Given the description of an element on the screen output the (x, y) to click on. 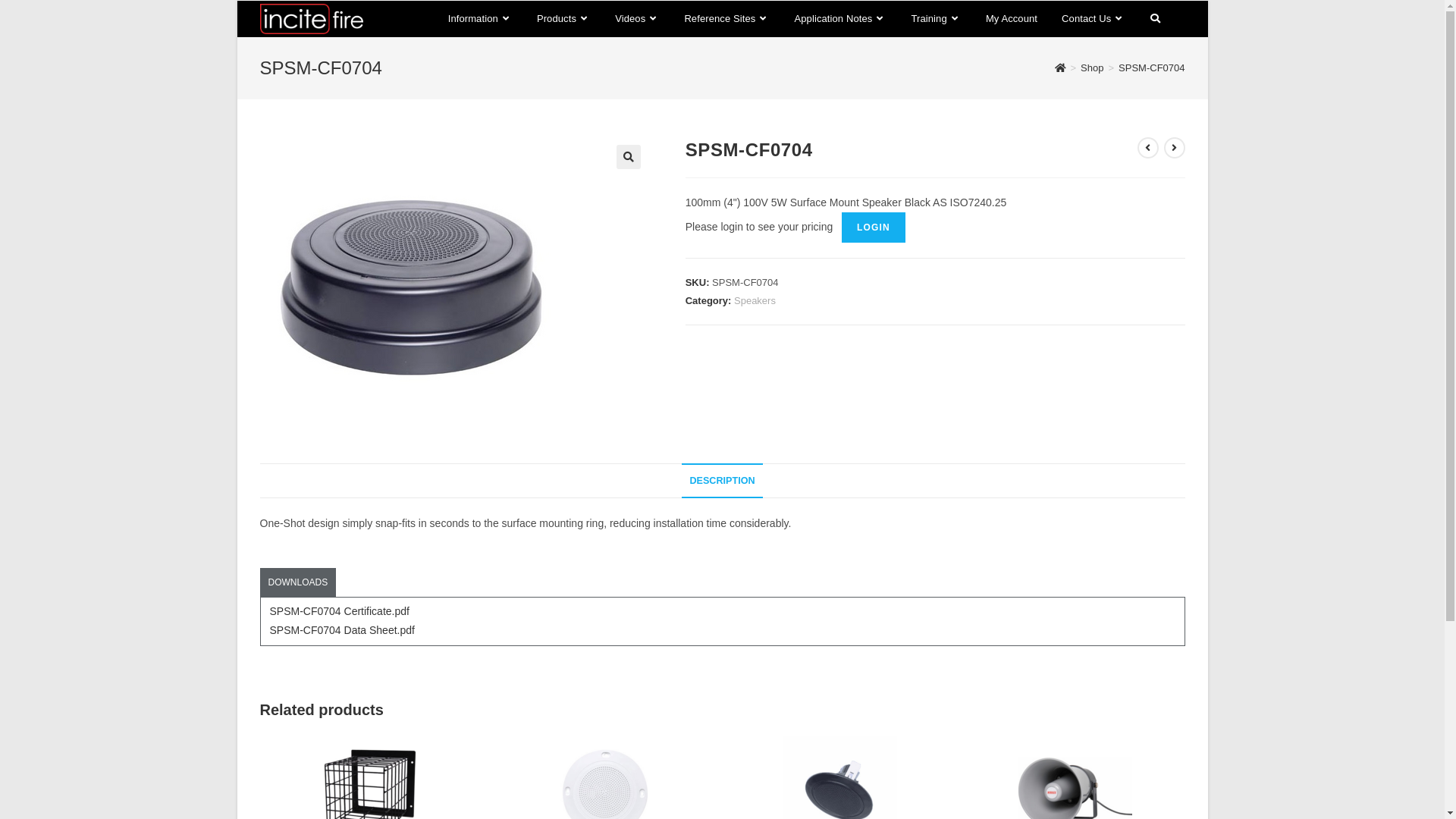
Training Element type: text (935, 18)
Reference Sites Element type: text (726, 18)
SPSM-CF0704 Element type: hover (410, 288)
Products Element type: text (563, 18)
Toggle website search Element type: text (1154, 18)
SPSM-CF0704 Certificate.pdf Element type: text (339, 611)
DESCRIPTION Element type: text (721, 480)
Application Notes Element type: text (839, 18)
Shop Element type: text (1091, 67)
Information Element type: text (480, 18)
Videos Element type: text (636, 18)
LOGIN Element type: text (873, 227)
SPSM-CF0704 Data Sheet.pdf Element type: text (341, 630)
Speakers Element type: text (754, 300)
LOGIN Element type: text (873, 226)
SPSM-CF0704 Element type: text (1151, 67)
DOWNLOADS Element type: text (297, 582)
My Account Element type: text (1011, 18)
Contact Us Element type: text (1093, 18)
